Given the description of an element on the screen output the (x, y) to click on. 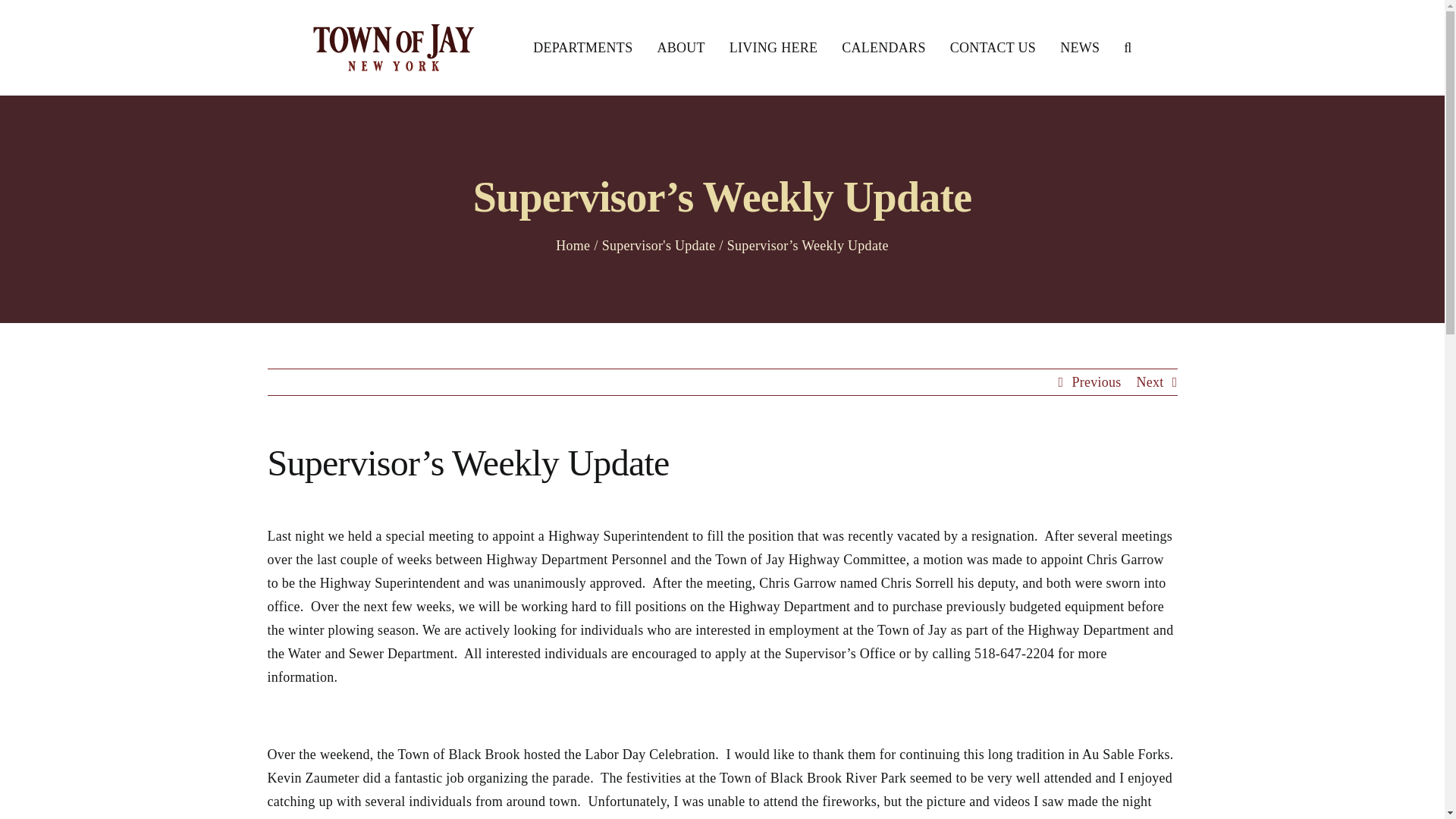
CONTACT US (992, 47)
DEPARTMENTS (581, 47)
LIVING HERE (772, 47)
